Given the description of an element on the screen output the (x, y) to click on. 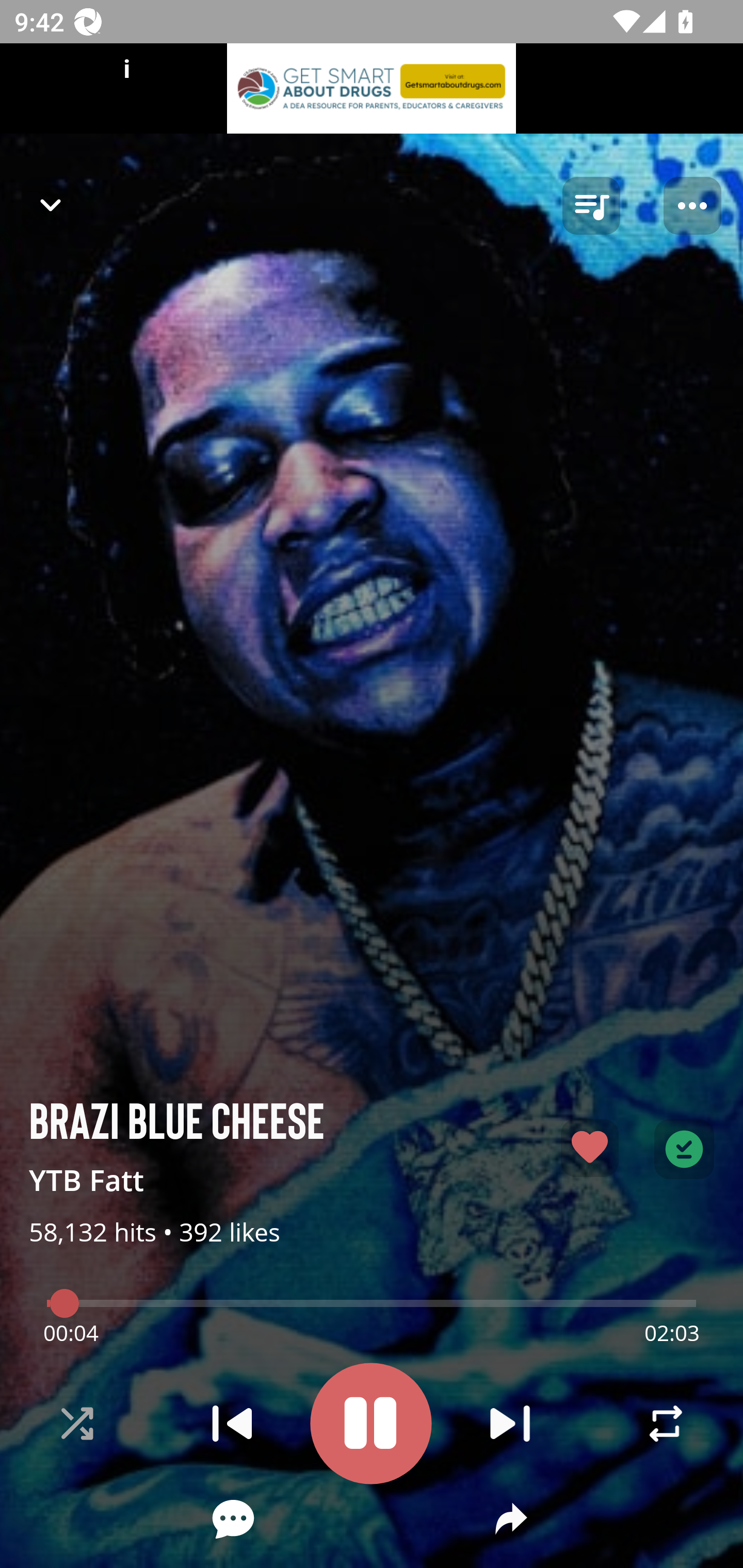
Navigate up (50, 205)
queue (590, 206)
Player options (692, 206)
